Given the description of an element on the screen output the (x, y) to click on. 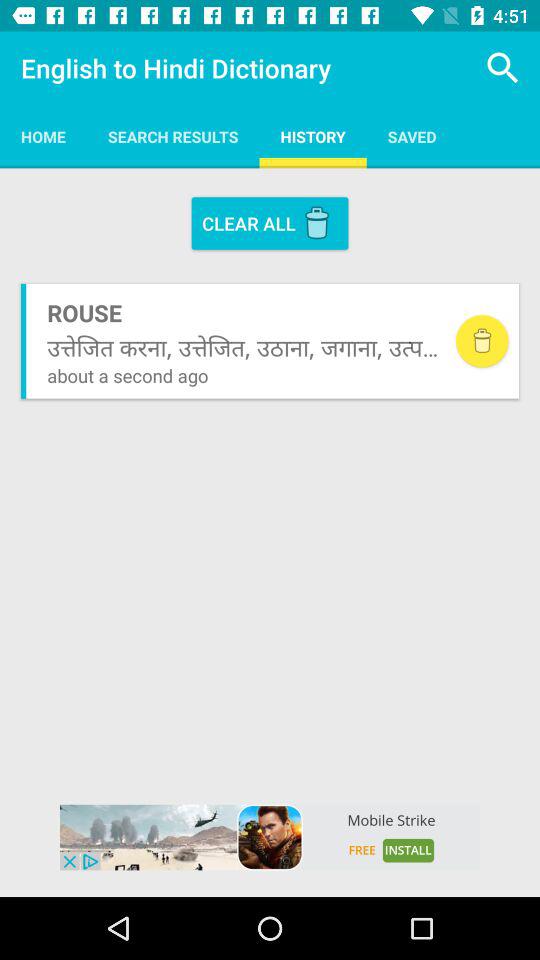
delete option (482, 341)
